Given the description of an element on the screen output the (x, y) to click on. 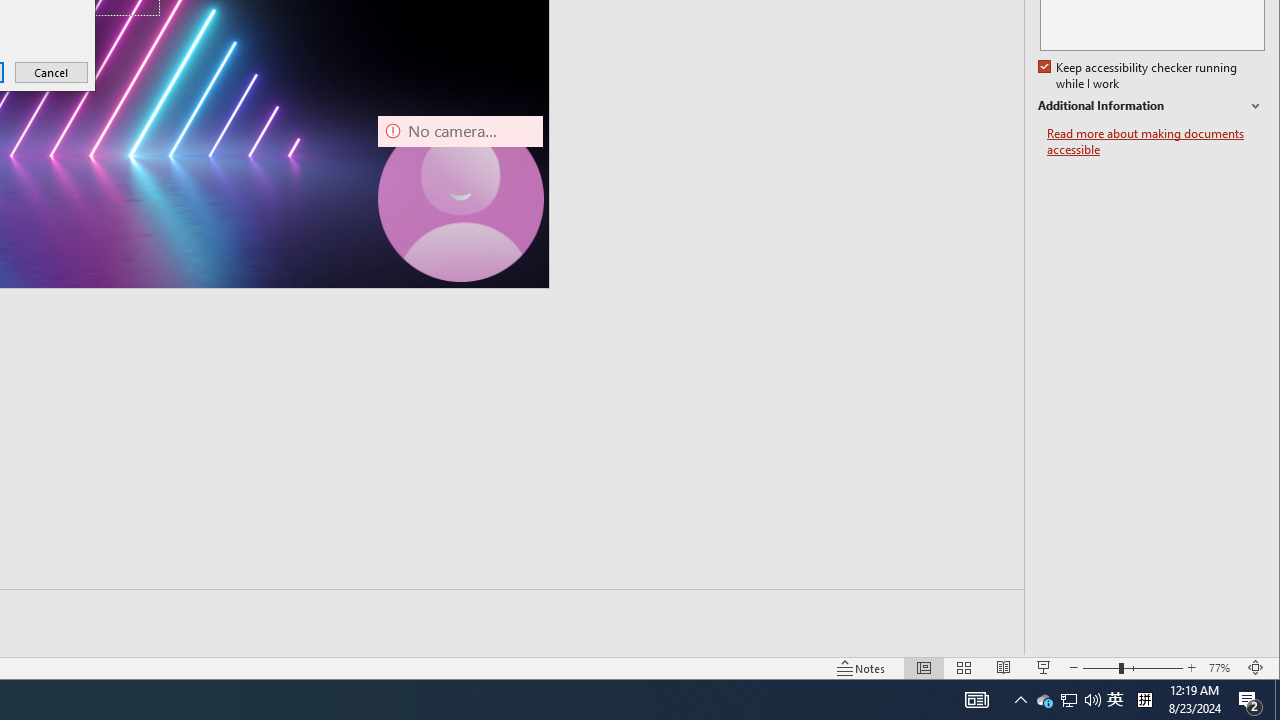
Camera 7, No camera detected. (460, 197)
